Given the description of an element on the screen output the (x, y) to click on. 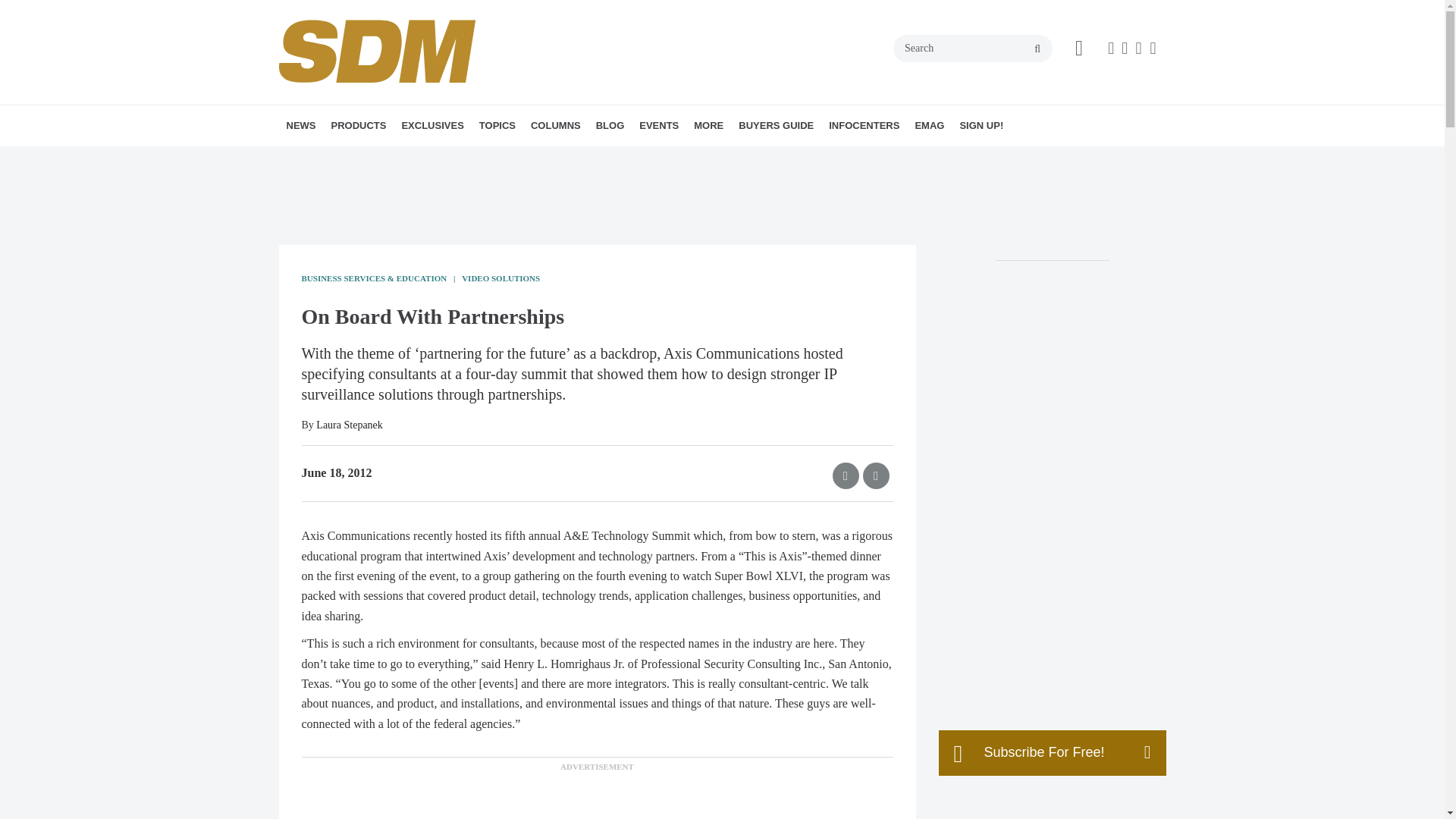
INTEGRATION SPOTLIGHT (636, 158)
MONITORING (590, 158)
Search (972, 48)
TOPICS (496, 125)
Search (972, 48)
PRODUCTS (358, 125)
SYSTEMS INTEGRATOR OF THE YEAR (516, 167)
PROJECT OF THE YEAR (501, 158)
COLUMNS (555, 125)
ANNUAL INDUSTRY FORECAST (488, 158)
